Given the description of an element on the screen output the (x, y) to click on. 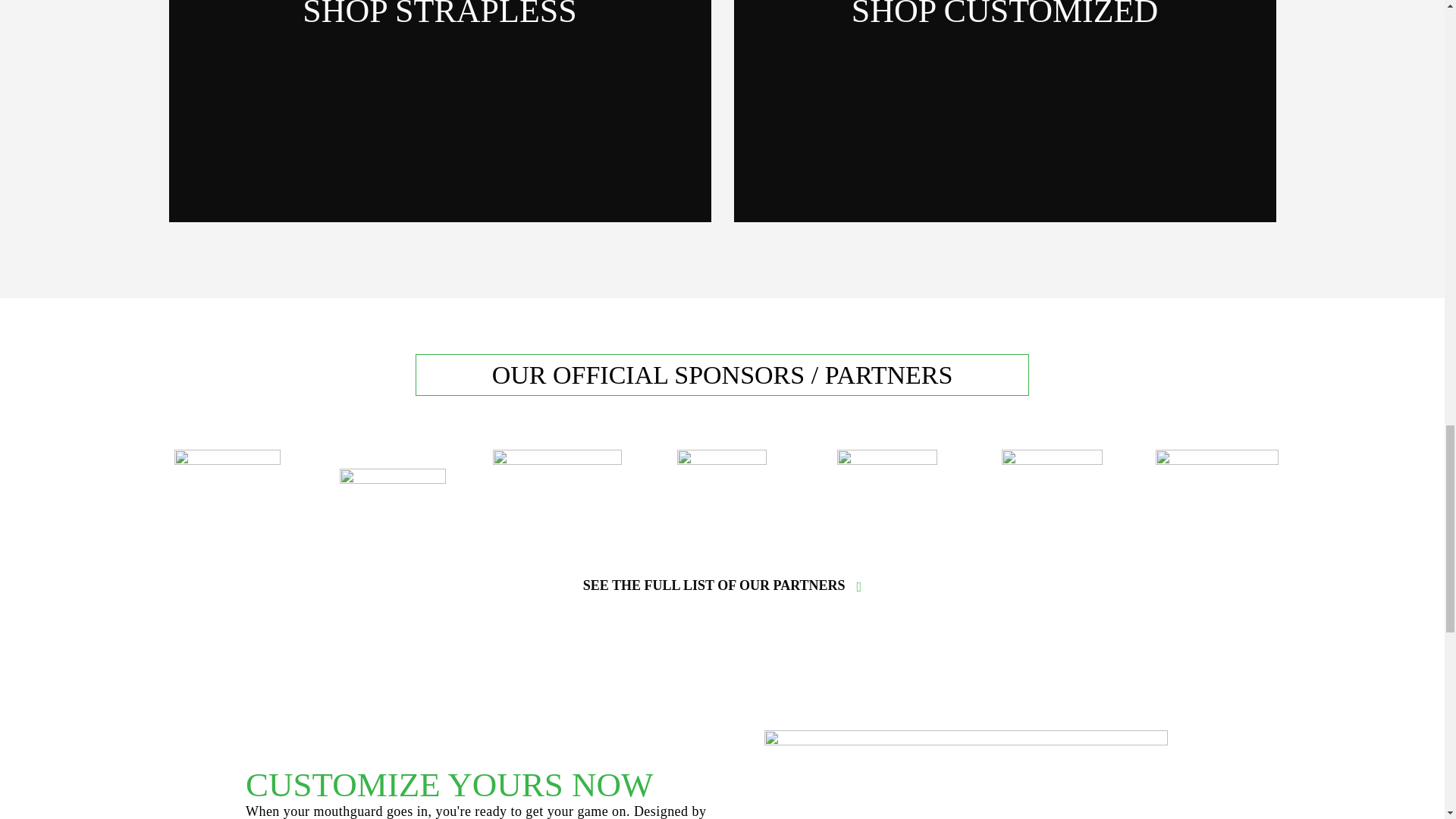
SHOP STRAPLESS (439, 14)
SEE THE FULL LIST OF OUR PARTNERS (714, 585)
SHOP CUSTOMIZED (1004, 14)
